Given the description of an element on the screen output the (x, y) to click on. 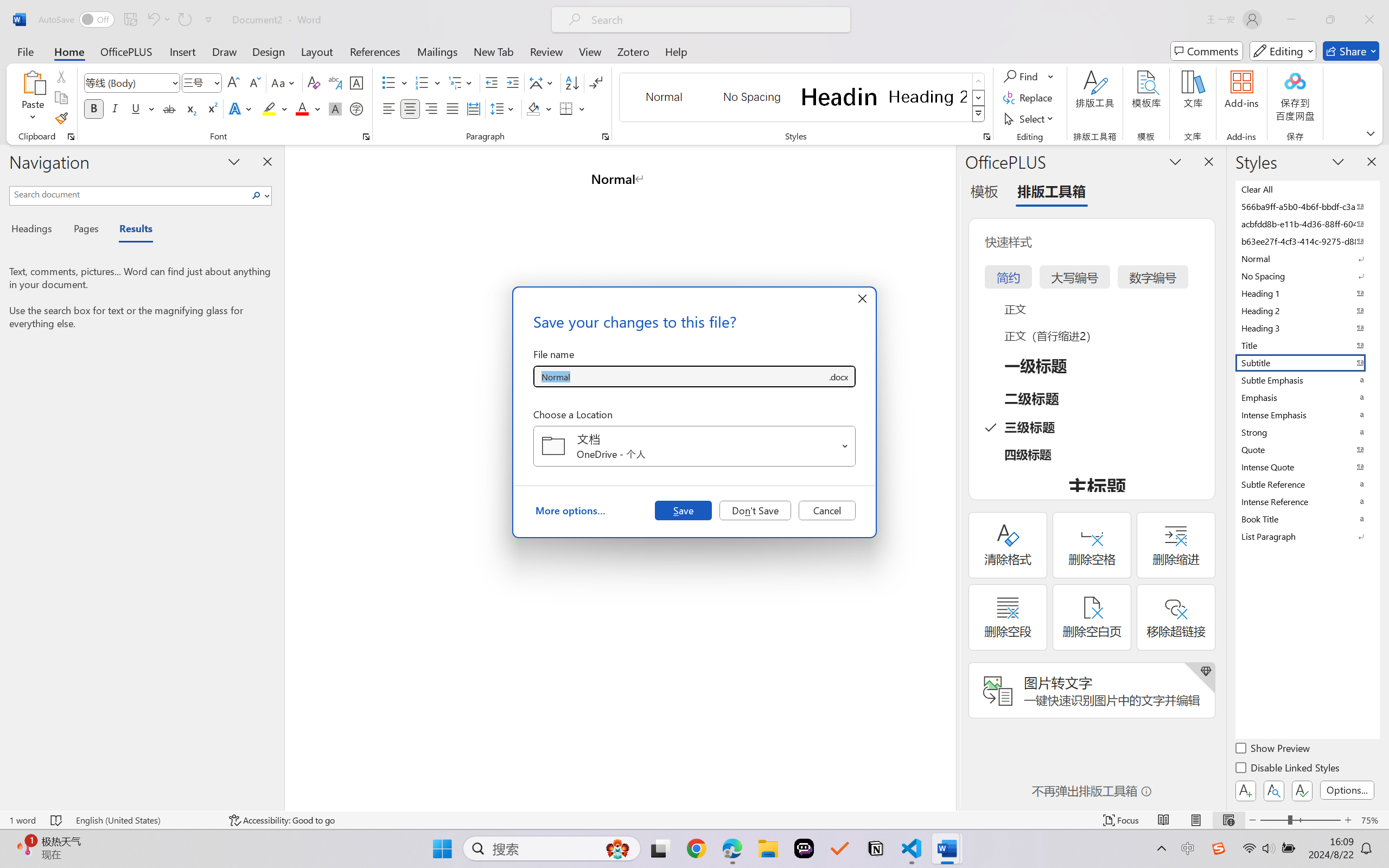
Borders (566, 108)
Class: NetUIImage (978, 114)
Change Case (284, 82)
Normal (1306, 258)
New Tab (493, 51)
Cut (60, 75)
Mailings (437, 51)
Headings (35, 229)
Replace... (1029, 97)
